Given the description of an element on the screen output the (x, y) to click on. 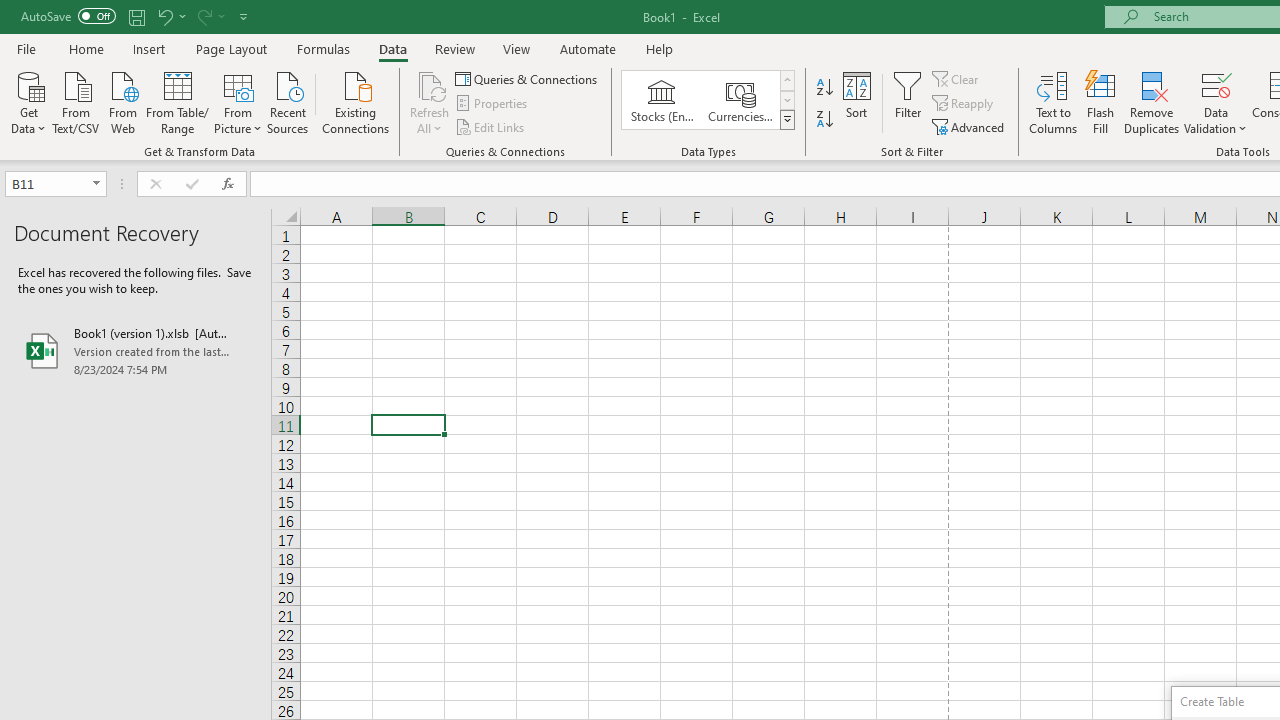
More Options (1215, 121)
Review (454, 48)
From Picture (238, 101)
Text to Columns... (1053, 102)
Formulas (323, 48)
From Text/CSV (75, 101)
Get Data (28, 101)
Row Down (786, 100)
Data Validation... (1215, 102)
Class: NetUIImage (787, 119)
Quick Access Toolbar (136, 16)
